Given the description of an element on the screen output the (x, y) to click on. 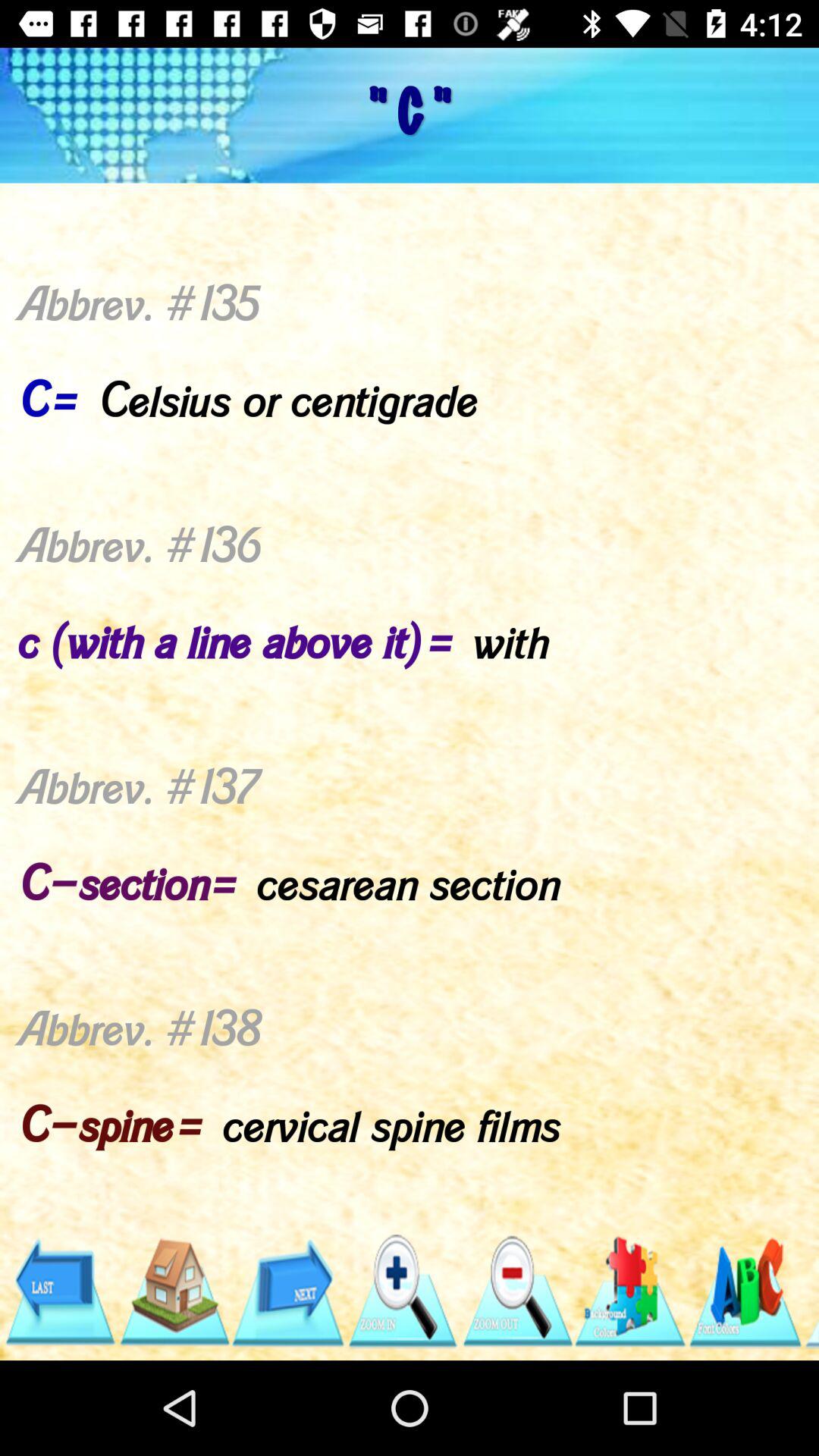
go forward (287, 1291)
